Given the description of an element on the screen output the (x, y) to click on. 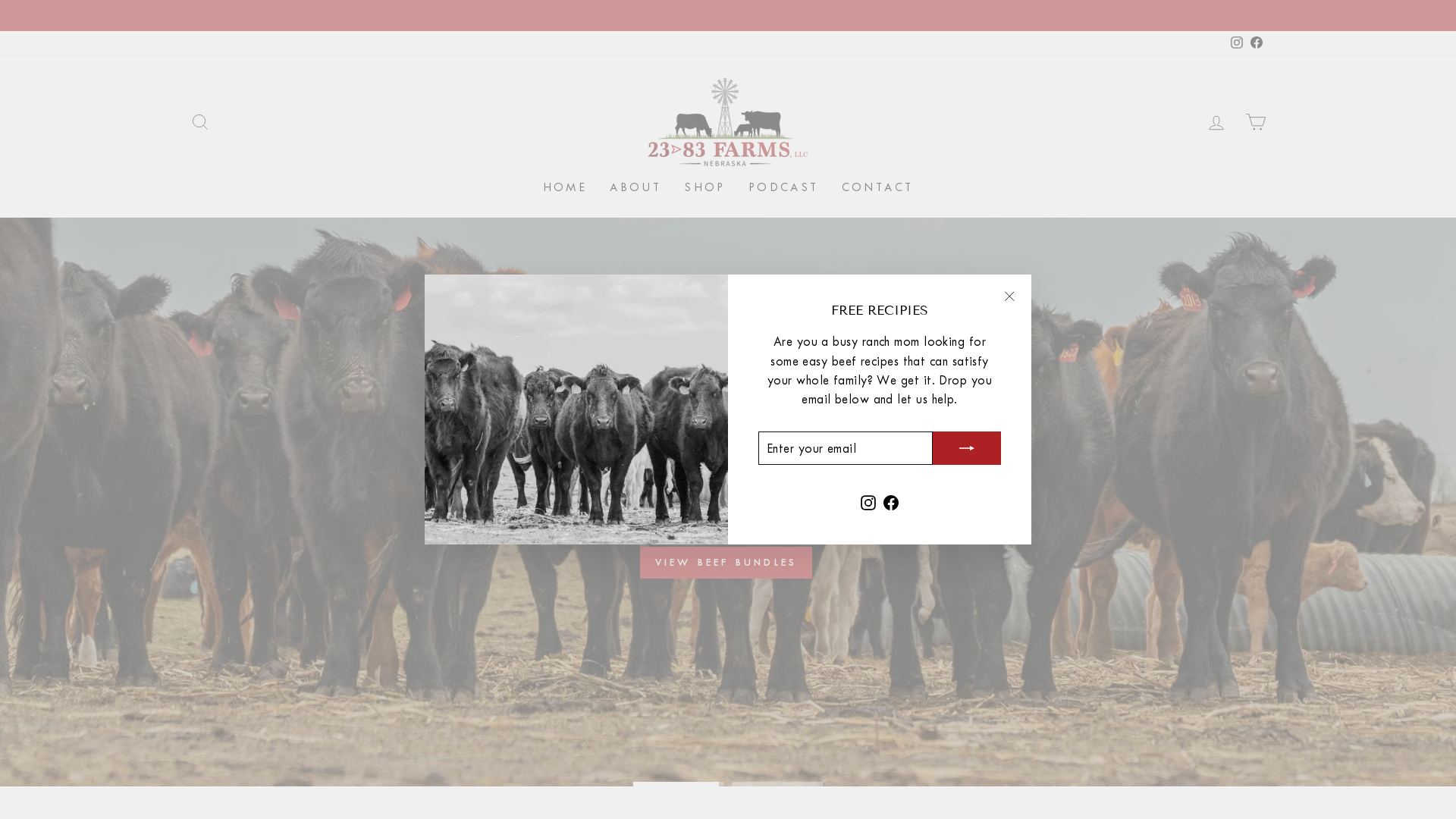
Instagram Element type: text (1236, 42)
Instagram Element type: text (867, 500)
LOG IN Element type: text (1216, 121)
SEARCH Element type: text (199, 121)
"Close (esc)" Element type: text (1008, 296)
ABOUT Element type: text (635, 187)
CONTACT Element type: text (877, 187)
VIEW BEEF BUNDLES Element type: text (726, 562)
HOME Element type: text (565, 187)
CART Element type: text (1255, 121)
SHOP Element type: text (704, 187)
PODCAST Element type: text (783, 187)
Facebook Element type: text (1256, 42)
Facebook Element type: text (890, 500)
